Given the description of an element on the screen output the (x, y) to click on. 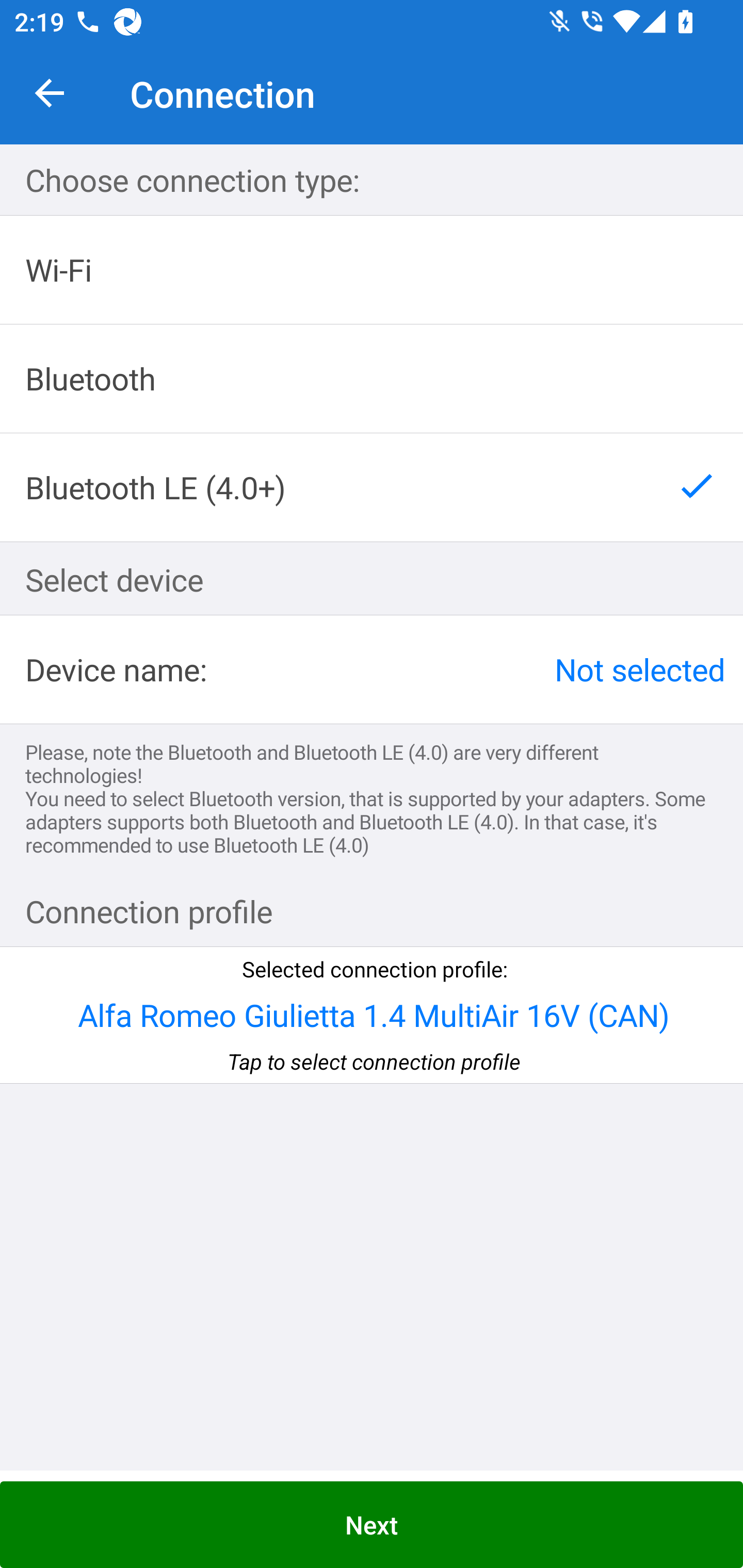
Wi-Fi (371, 270)
Bluetooth (371, 378)
Bluetooth LE (4.0+) (371, 486)
Device name: Not selected (371, 669)
Next (371, 1524)
